Given the description of an element on the screen output the (x, y) to click on. 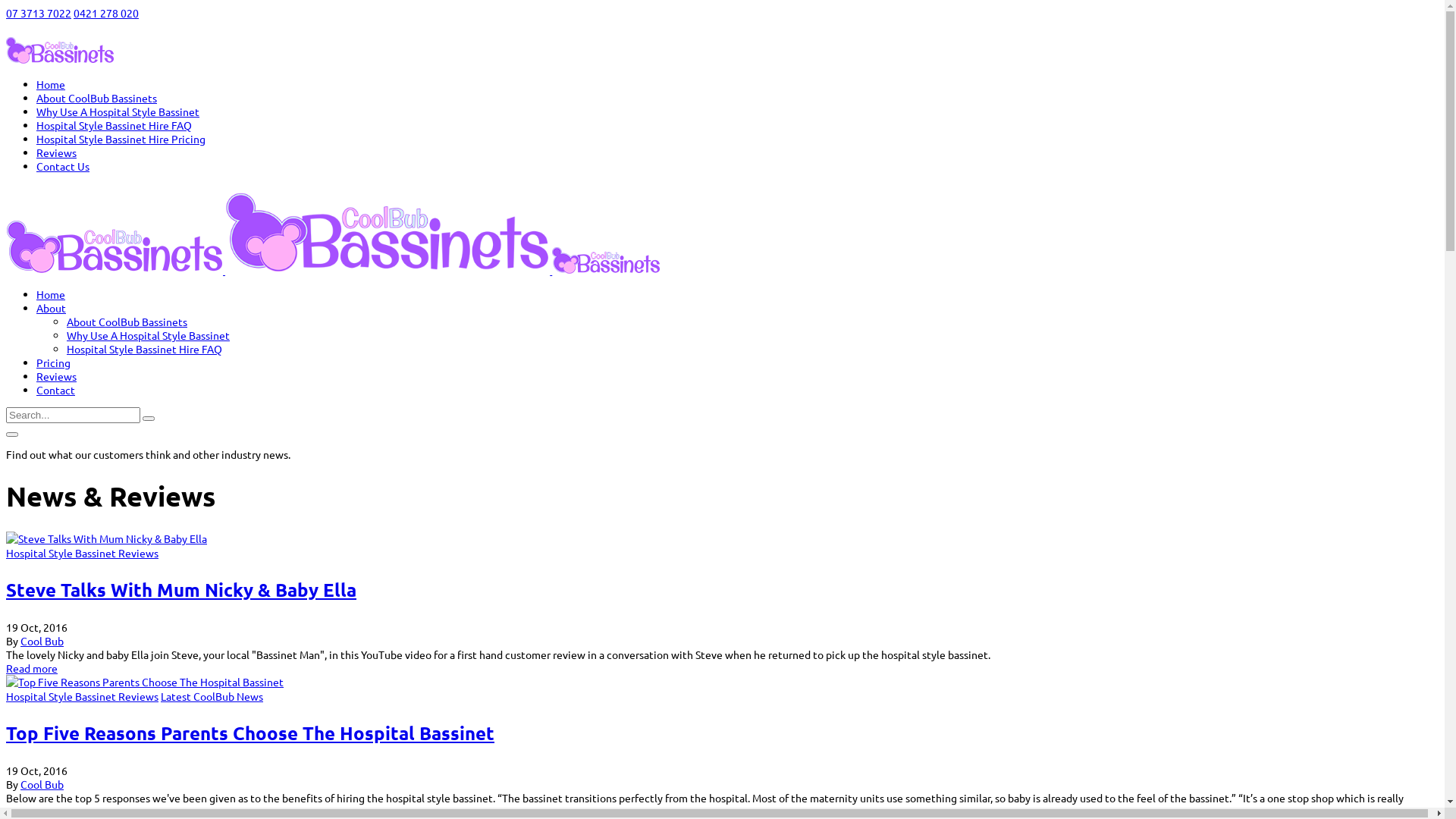
Contact Us Element type: text (62, 165)
Hospital Style Bassinet Reviews Element type: text (82, 552)
Hospital Style Bassinet Hire FAQ Element type: text (113, 124)
Hospital Style Bassinet Hire Pricing Element type: text (120, 138)
Top Five Reasons Parents Choose The Hospital Bassinet Element type: text (250, 732)
Home Element type: text (50, 294)
Why Use A Hospital Style Bassinet Element type: text (117, 111)
Home Element type: text (50, 84)
About Element type: text (50, 307)
Hospital Style Bassinet Hire FAQ Element type: text (144, 348)
0421 278 020 Element type: text (105, 12)
About CoolBub Bassinets Element type: text (126, 321)
Cool Bub Element type: text (41, 640)
Steve Talks With Mum Nicky & Baby Ella Element type: text (181, 589)
Cool Bub Element type: text (41, 783)
Hospital Style Bassinet Reviews Element type: text (82, 695)
Read more Element type: text (31, 667)
Latest CoolBub News Element type: text (211, 695)
Why Use A Hospital Style Bassinet Element type: text (147, 335)
Reviews Element type: text (56, 375)
Pricing Element type: text (53, 362)
Reviews Element type: text (56, 152)
About CoolBub Bassinets Element type: text (96, 97)
07 3713 7022 Element type: text (38, 12)
Contact Element type: text (55, 389)
